Given the description of an element on the screen output the (x, y) to click on. 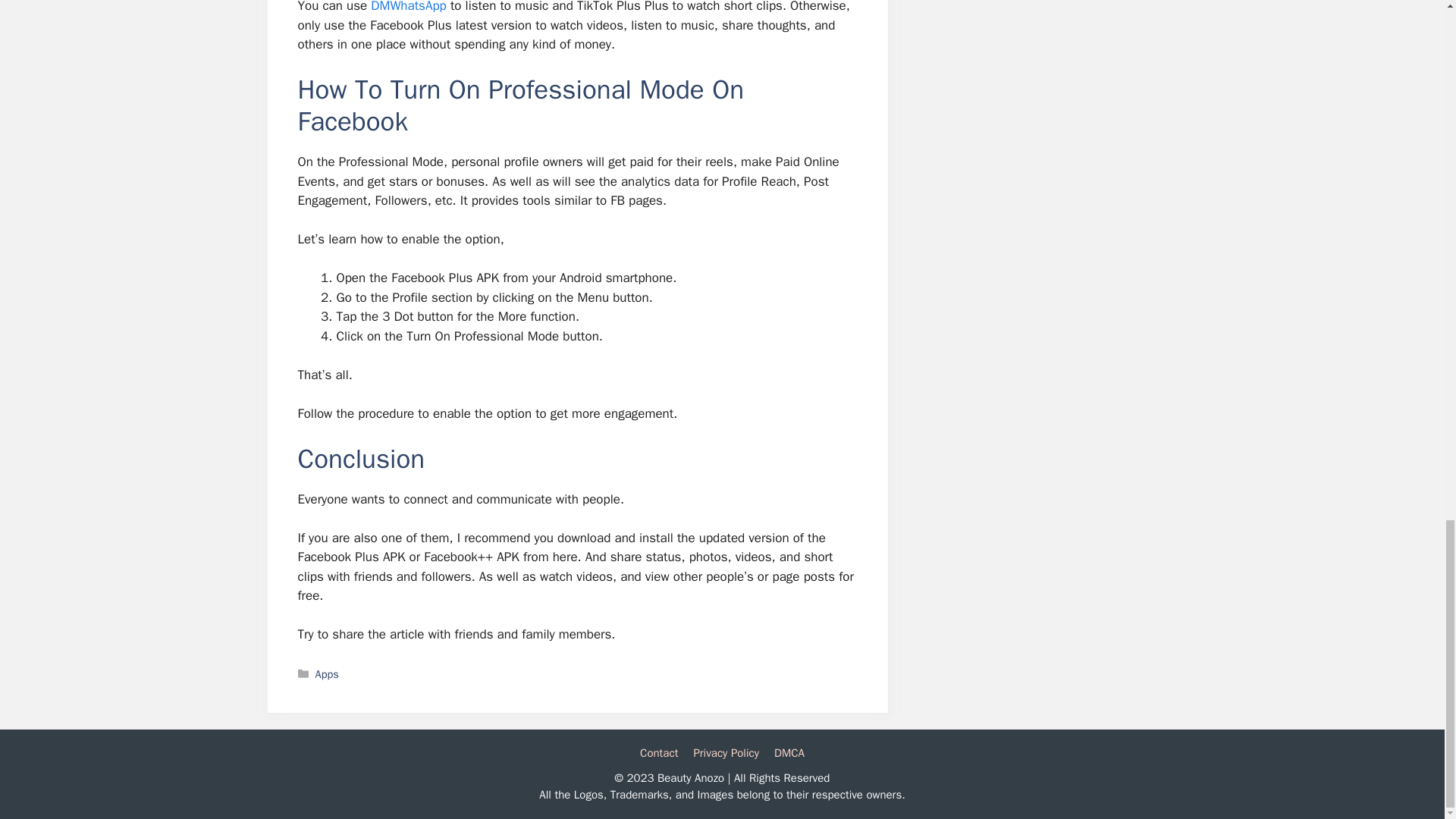
Scroll back to top (1406, 86)
DMWhatsApp (408, 6)
Contact (659, 753)
DMCA (789, 753)
Apps (327, 673)
Privacy Policy (725, 753)
